Given the description of an element on the screen output the (x, y) to click on. 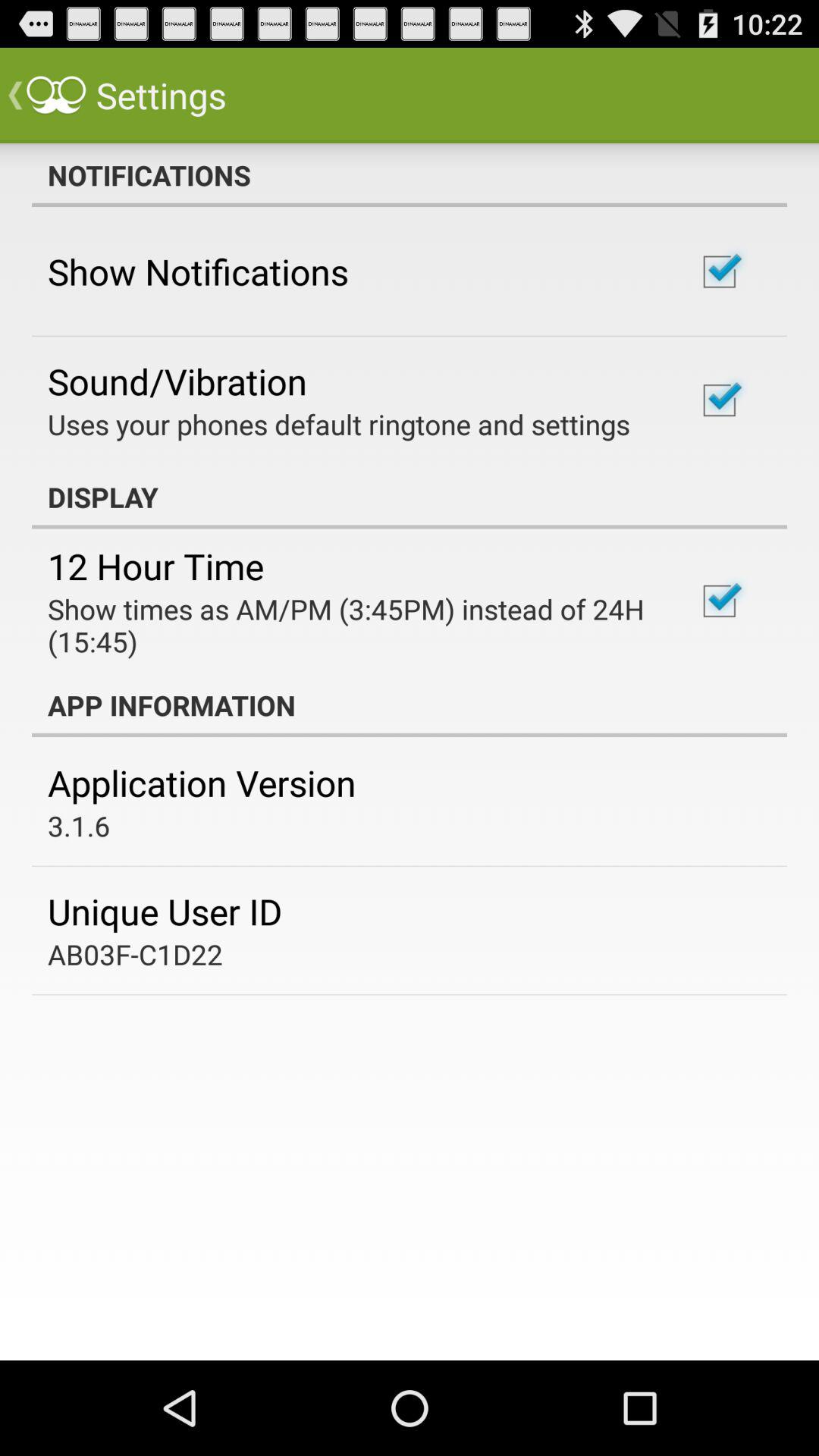
press the app below the display item (155, 566)
